Given the description of an element on the screen output the (x, y) to click on. 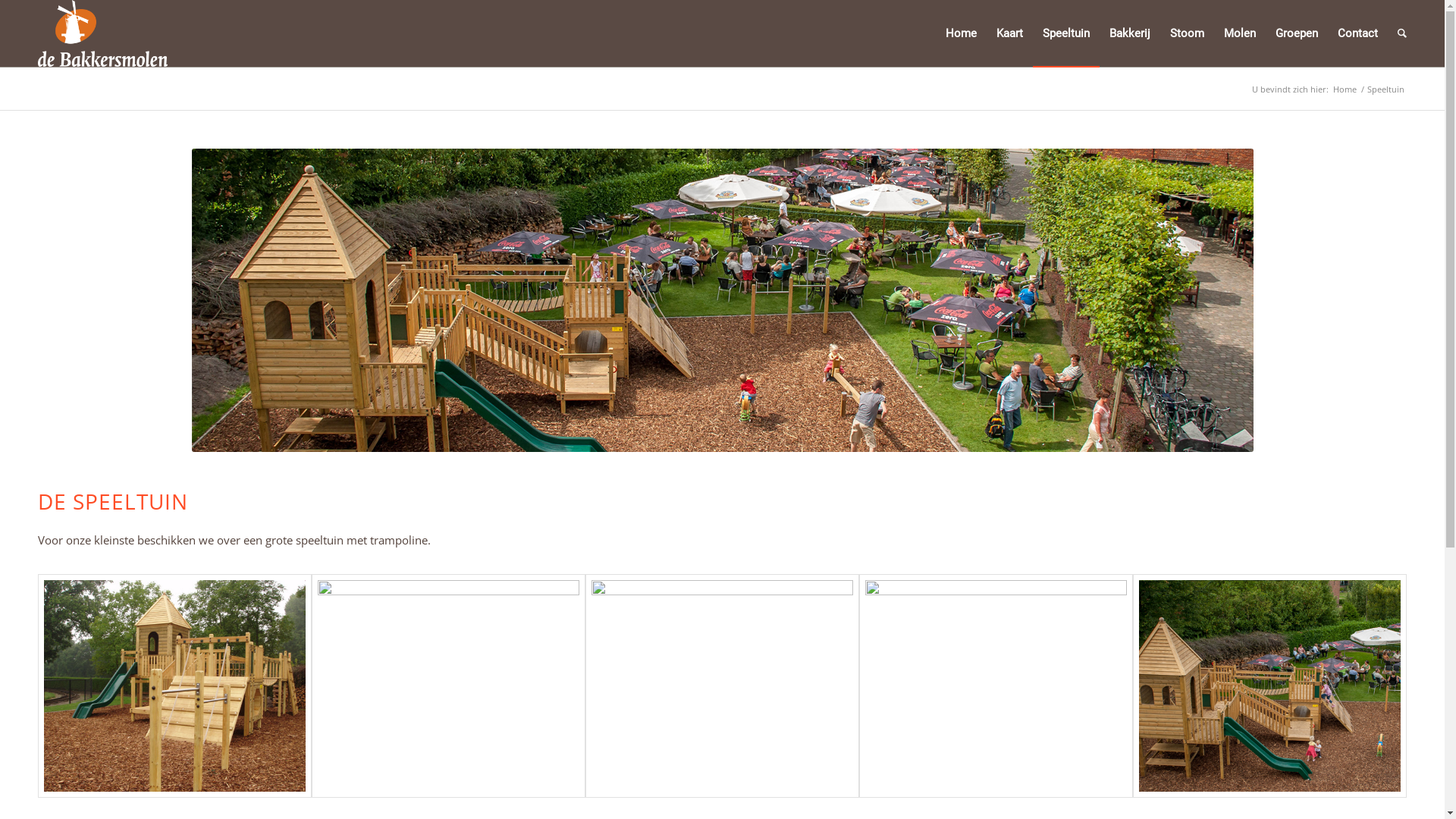
Bakkerij Element type: text (1129, 33)
Contact Element type: text (1357, 33)
Home Element type: text (960, 33)
Speeltuin Element type: text (1065, 33)
Stoom Element type: text (1187, 33)
speeltuin4 Element type: hover (995, 685)
Kaart Element type: text (1009, 33)
Home Element type: text (1344, 88)
speeltuin1 Element type: hover (174, 685)
Groepen Element type: text (1296, 33)
speeltuin3 Element type: hover (722, 685)
speeltuin2 Element type: hover (448, 685)
Molen Element type: text (1239, 33)
speeltuin5 Element type: hover (1269, 685)
headerSpeeltuin1 Element type: hover (721, 299)
